Given the description of an element on the screen output the (x, y) to click on. 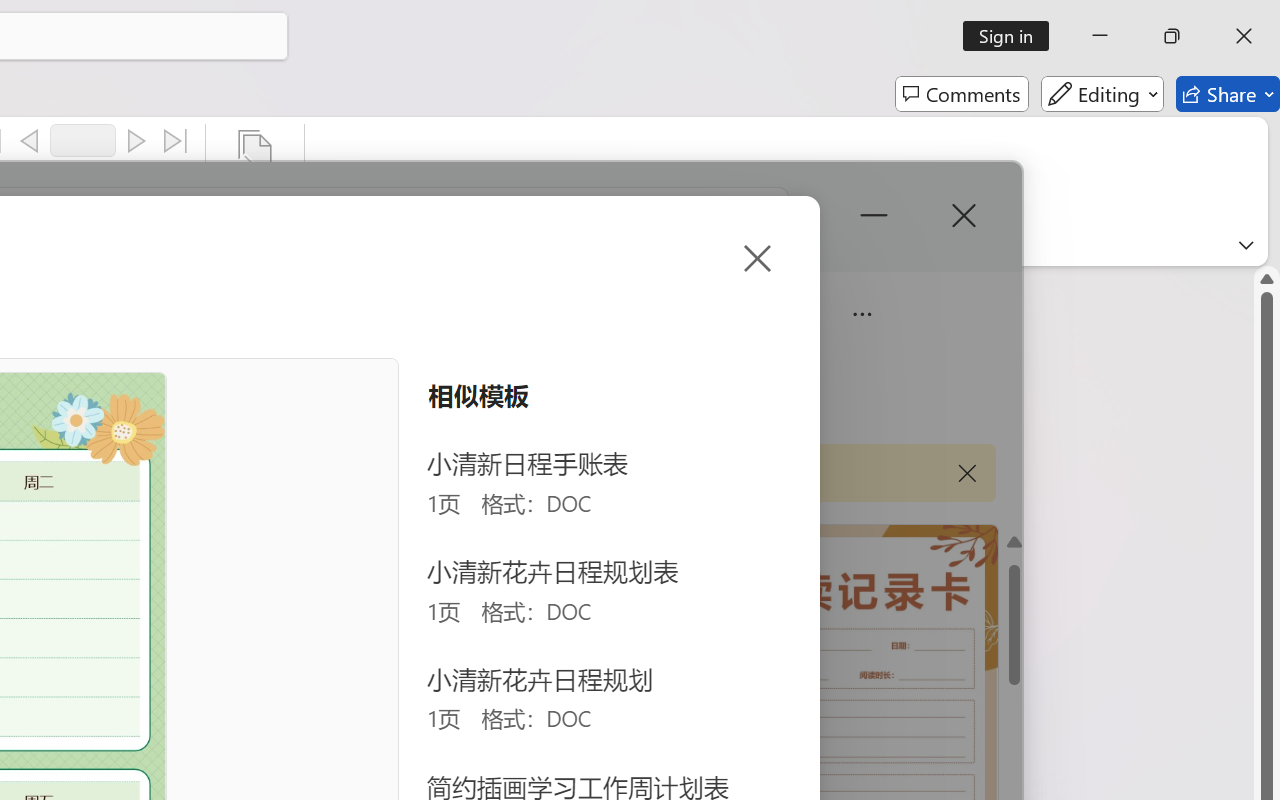
Previous (29, 141)
Record (83, 140)
Editing (1101, 94)
Sign in (1012, 35)
Next (136, 141)
Last (175, 141)
Line up (1267, 278)
Finish & Merge (255, 179)
